Given the description of an element on the screen output the (x, y) to click on. 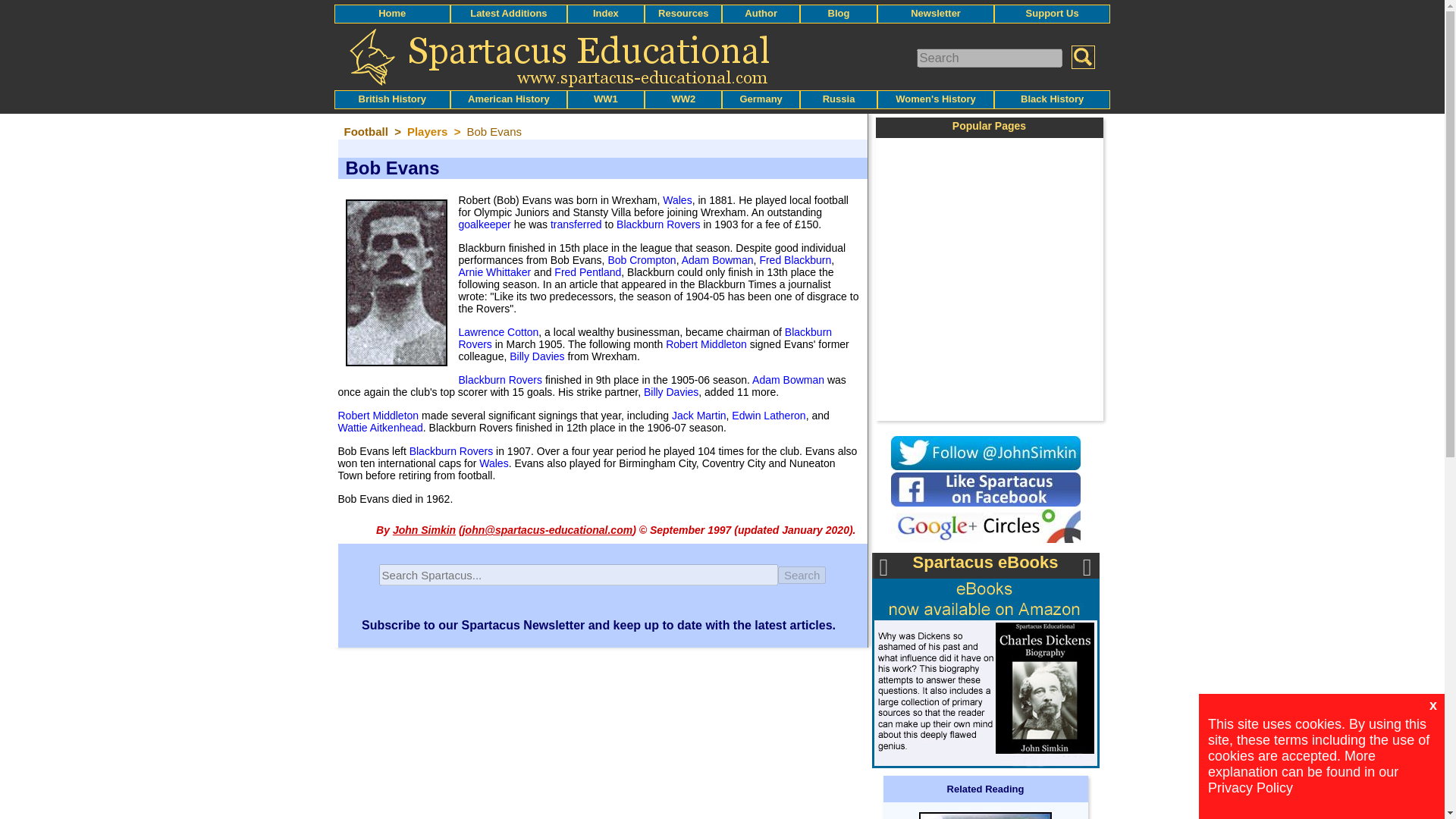
Search (802, 574)
Blackburn Rovers (499, 379)
Jack Martin (698, 415)
Black History (1051, 98)
Women's History (935, 98)
WW1 (605, 98)
transferred (576, 224)
Germany (760, 98)
Blackburn Rovers (644, 337)
WW2 (683, 98)
